Given the description of an element on the screen output the (x, y) to click on. 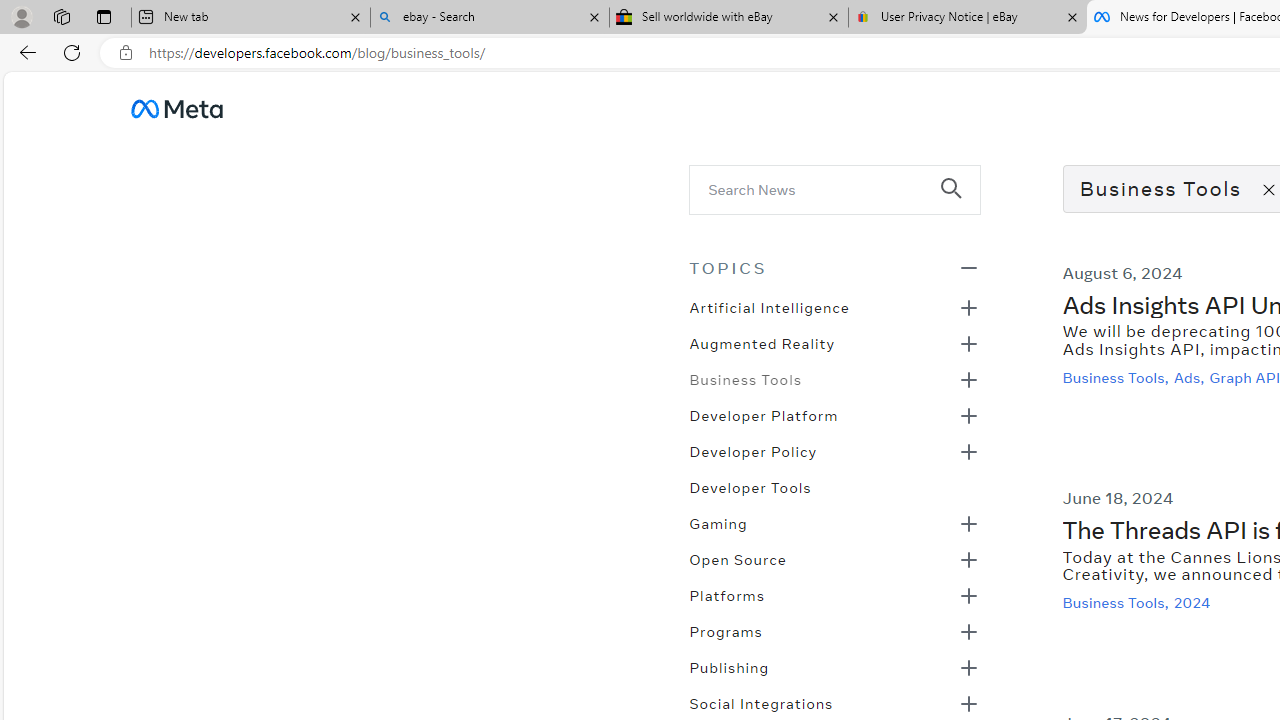
Tab actions menu (104, 16)
Close tab (1072, 16)
